Given the description of an element on the screen output the (x, y) to click on. 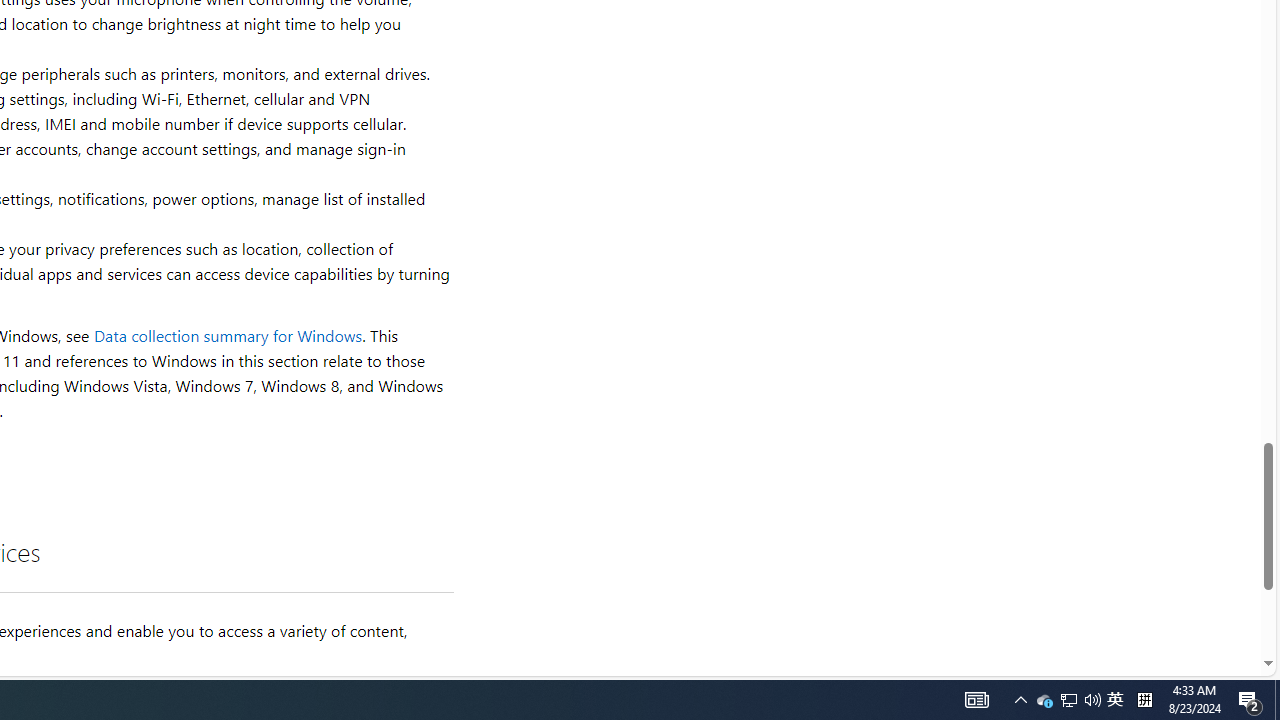
Data collection summary for Windows (228, 335)
